Given the description of an element on the screen output the (x, y) to click on. 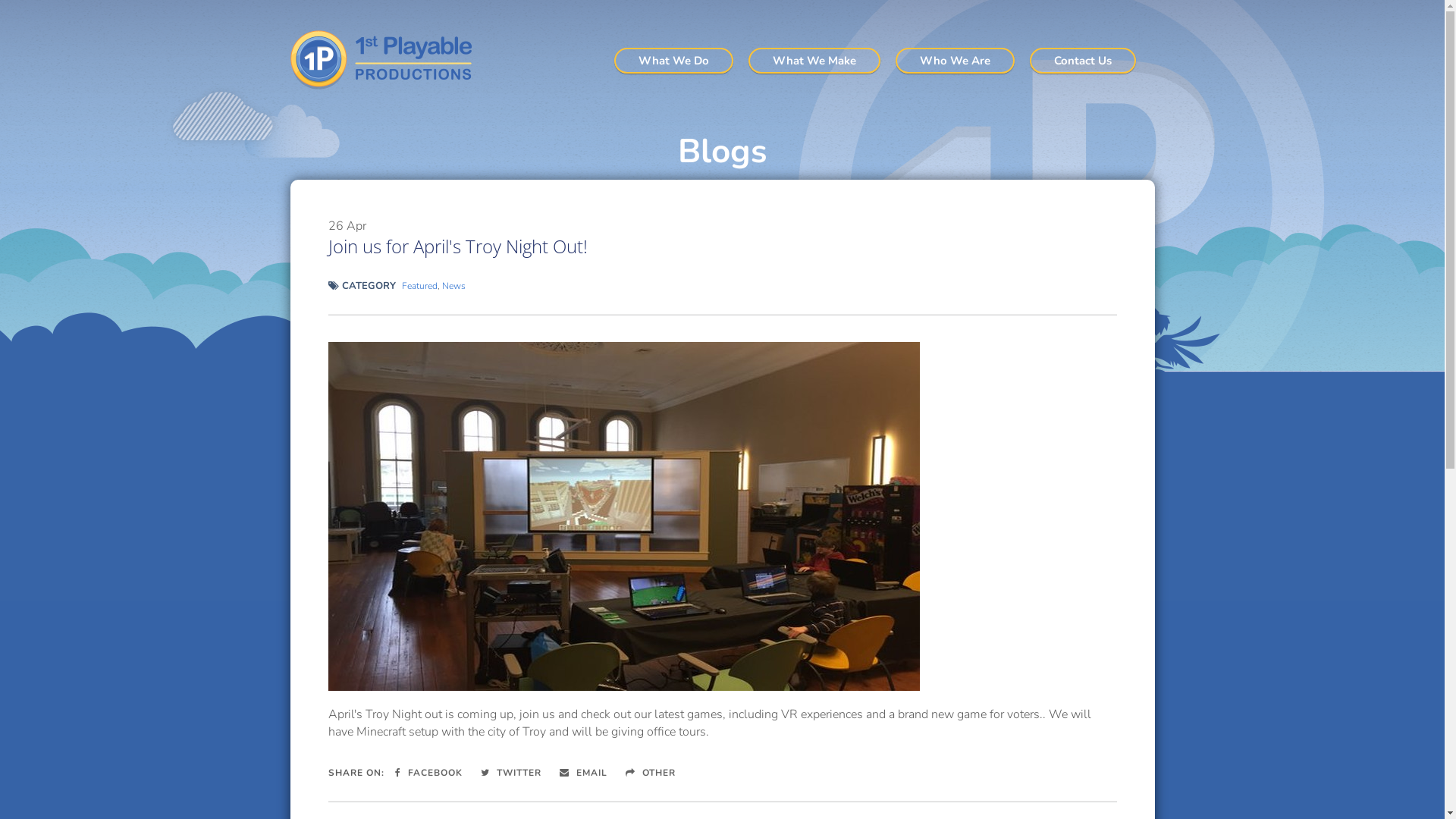
News Element type: text (452, 285)
OTHER Element type: text (649, 772)
TWITTER Element type: text (510, 772)
What We Make Element type: text (813, 60)
Who We Are Element type: text (953, 60)
What We Do Element type: text (673, 60)
FACEBOOK Element type: text (427, 772)
Featured Element type: text (419, 285)
1st Playable Productions Element type: hover (386, 59)
Contact Us Element type: text (1082, 60)
EMAIL Element type: text (583, 772)
